Given the description of an element on the screen output the (x, y) to click on. 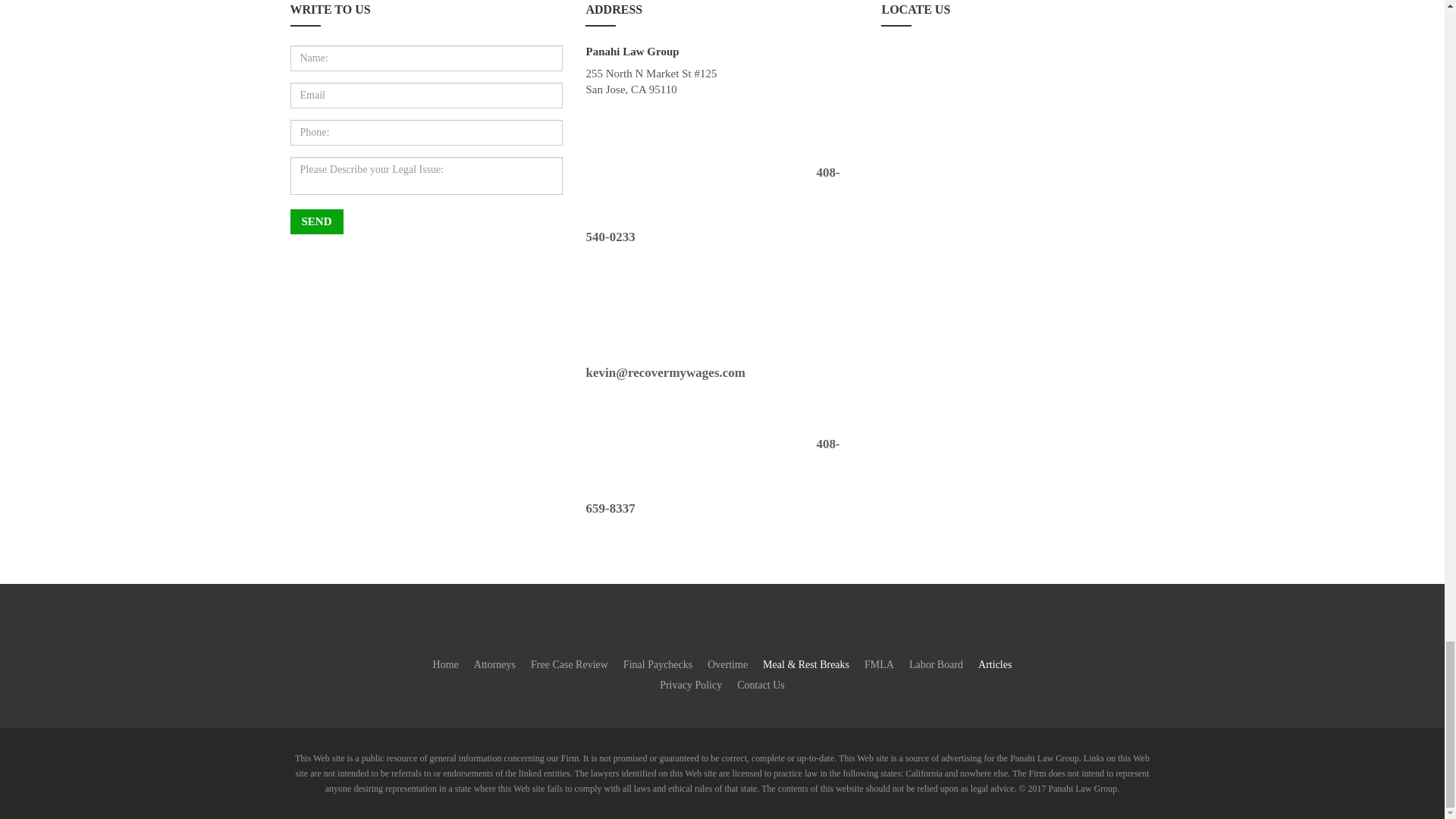
Attorneys (493, 664)
Free Case Review (568, 664)
Overtime (727, 664)
Final Paychecks (657, 664)
Home (445, 664)
SEND (315, 221)
SEND (315, 221)
